Given the description of an element on the screen output the (x, y) to click on. 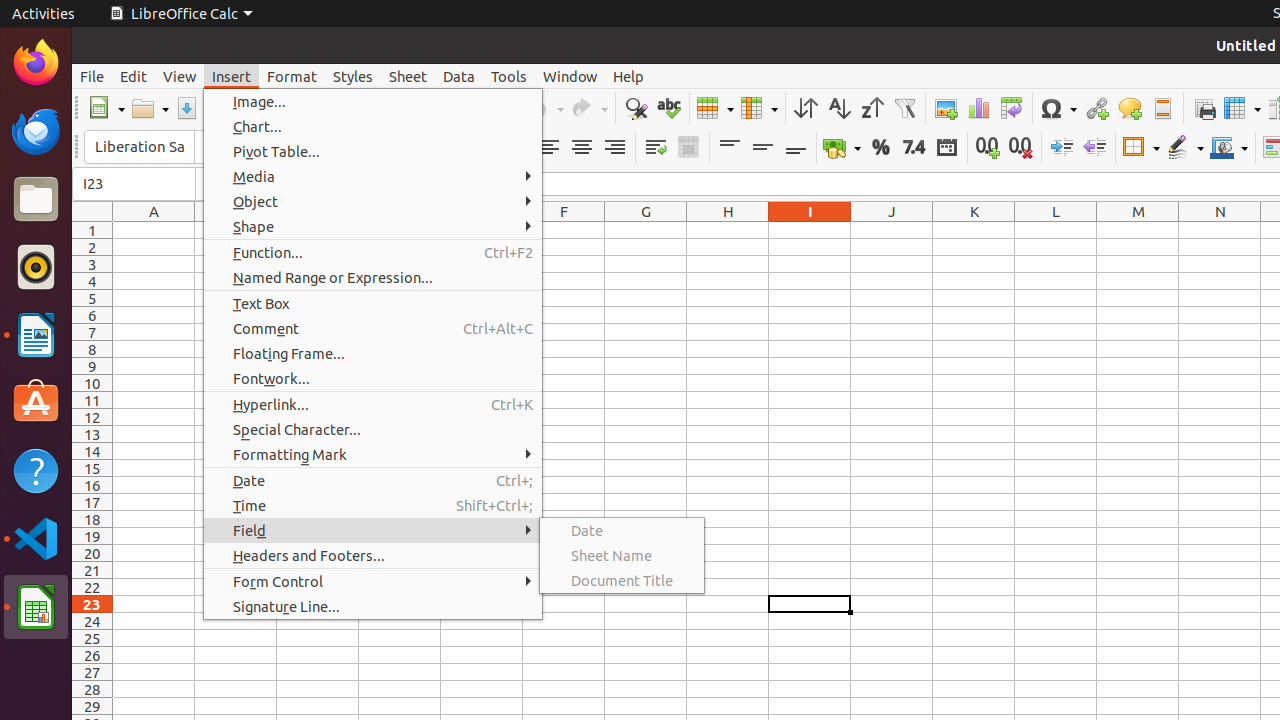
Insert Element type: menu (231, 76)
Activities Element type: label (43, 13)
Sort Element type: push-button (805, 108)
Align Center Element type: push-button (581, 147)
Trash Element type: label (133, 191)
